Given the description of an element on the screen output the (x, y) to click on. 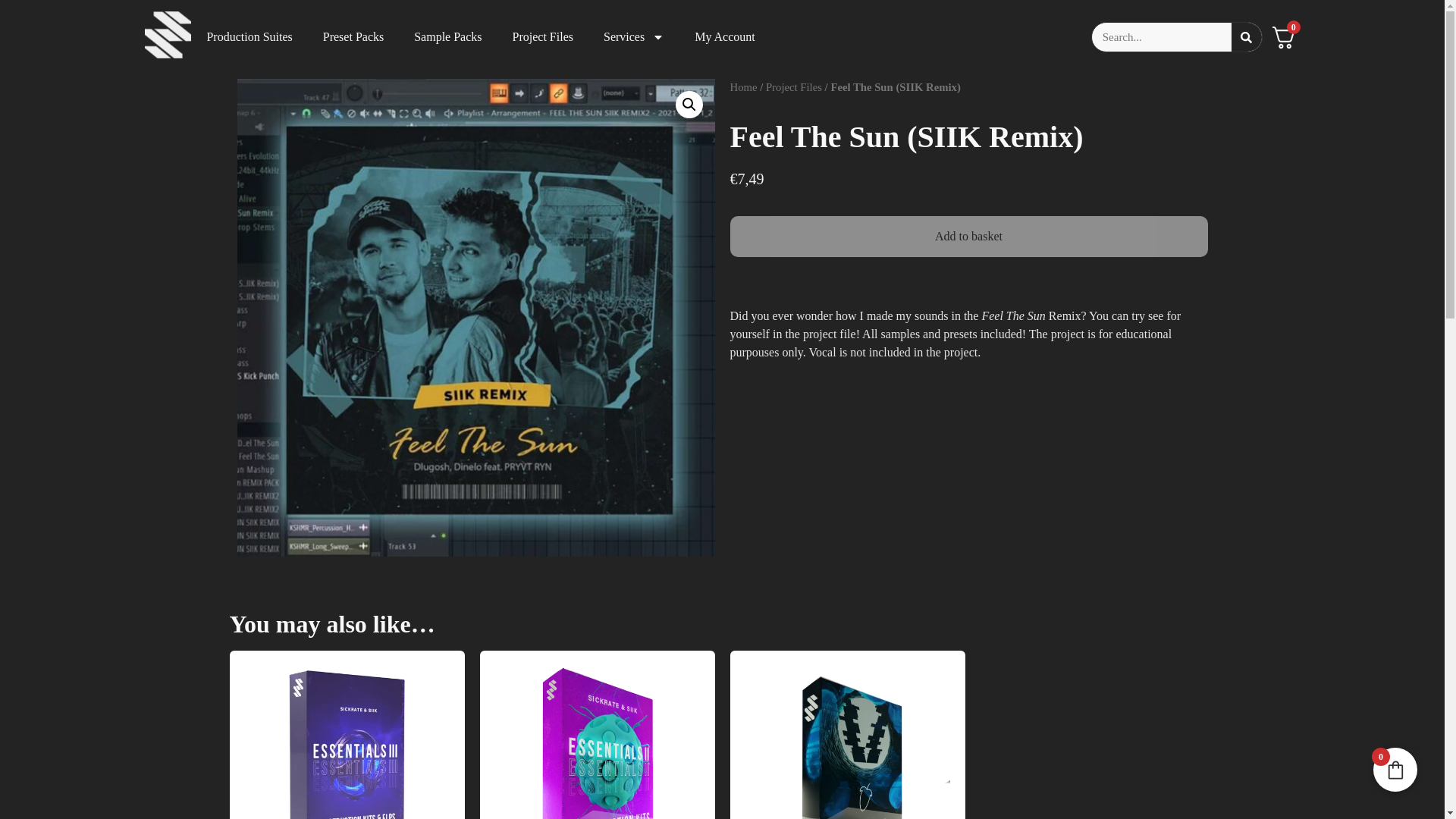
Production Suites (248, 36)
Services (633, 36)
Project Files (793, 87)
Home (743, 87)
Preset Packs (352, 36)
Project Files (542, 36)
My Account (724, 36)
Sample Packs (447, 36)
